Given the description of an element on the screen output the (x, y) to click on. 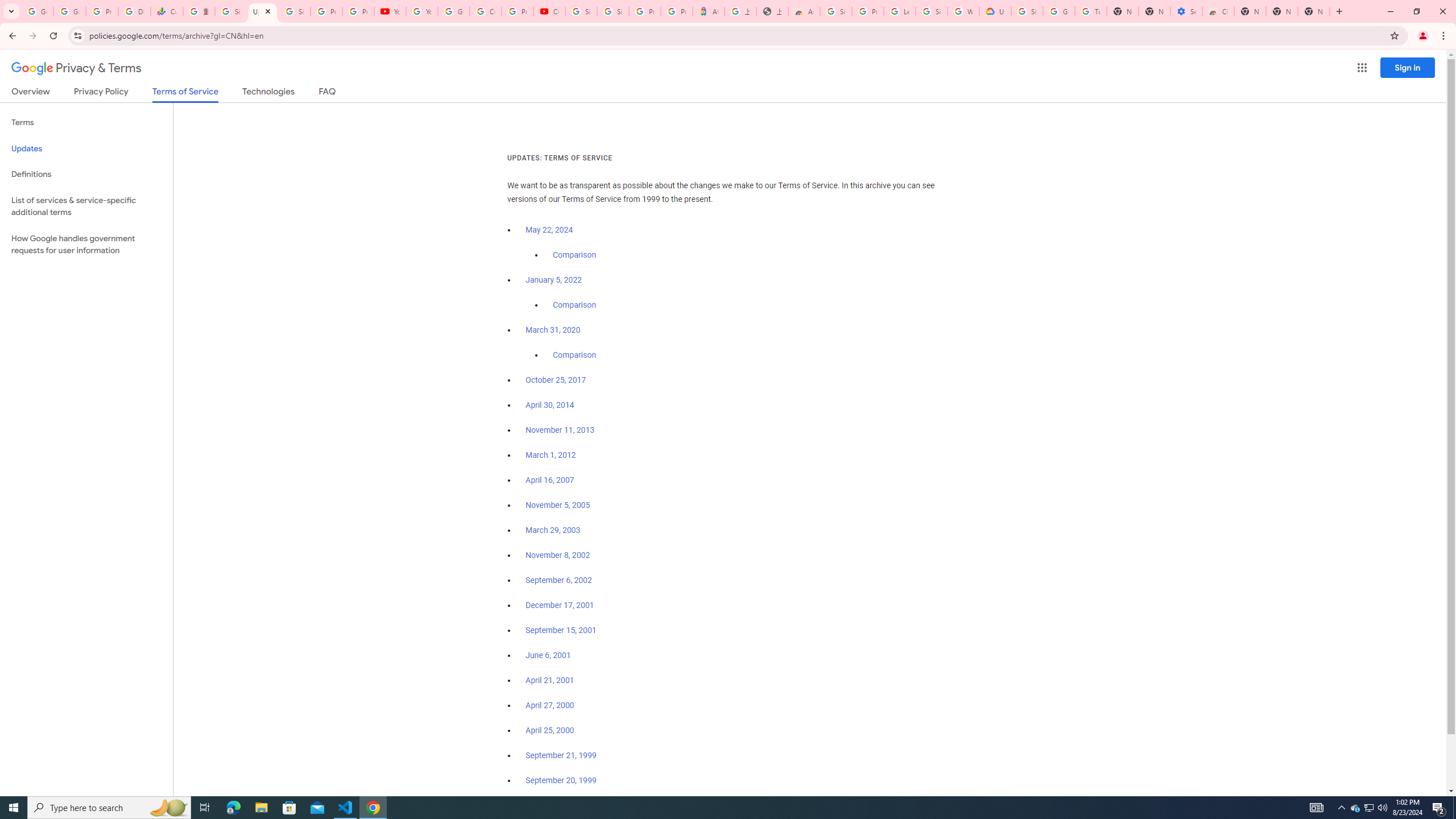
April 27, 2000 (550, 705)
Currencies - Google Finance (166, 11)
April 16, 2007 (550, 480)
Awesome Screen Recorder & Screenshot - Chrome Web Store (804, 11)
June 6, 2001 (547, 655)
Google Account Help (453, 11)
Create your Google Account (485, 11)
Chrome Web Store - Accessibility extensions (1217, 11)
Google Account Help (1059, 11)
Who are Google's partners? - Privacy and conditions - Google (963, 11)
